Given the description of an element on the screen output the (x, y) to click on. 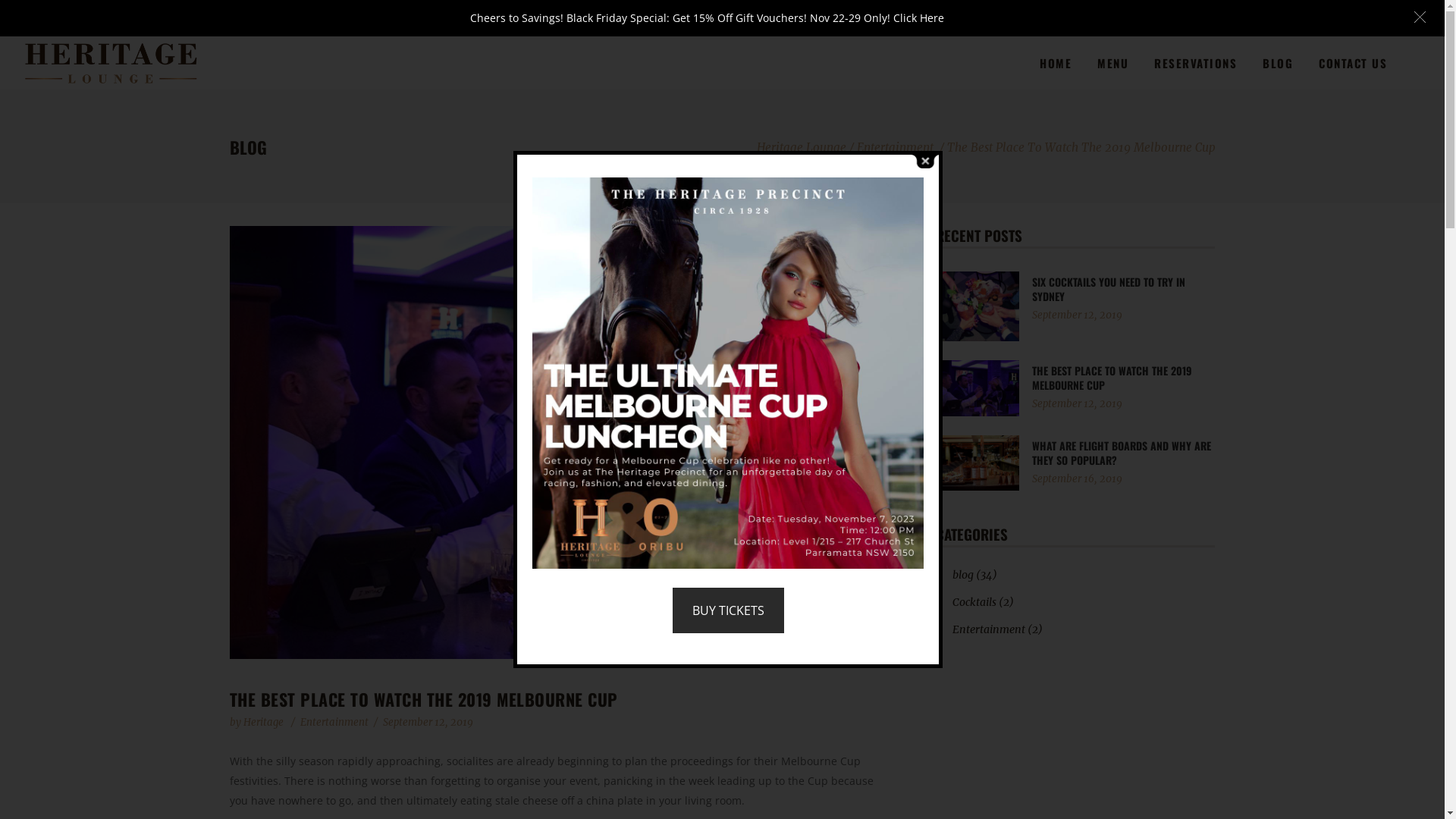
Click Here Element type: text (918, 17)
CONTACT US Element type: text (1365, 62)
blog Element type: text (962, 574)
HOME Element type: text (1055, 62)
Heritage Lounge Element type: text (801, 147)
MENU Element type: text (1112, 62)
BUY TICKETS Element type: text (727, 609)
Cocktails Element type: text (974, 601)
RESERVATIONS Element type: text (1195, 62)
Close Element type: hover (924, 160)
Heritage Element type: text (263, 721)
WHAT ARE FLIGHT BOARDS AND WHY ARE THEY SO POPULAR? Element type: text (1121, 452)
Entertainment Element type: text (334, 721)
Entertainment Element type: text (894, 147)
Entertainment Element type: text (988, 629)
SIX COCKTAILS YOU NEED TO TRY IN SYDNEY Element type: text (1108, 288)
THE BEST PLACE TO WATCH THE 2019 MELBOURNE CUP Element type: text (1112, 377)
BLOG Element type: text (1277, 62)
